Given the description of an element on the screen output the (x, y) to click on. 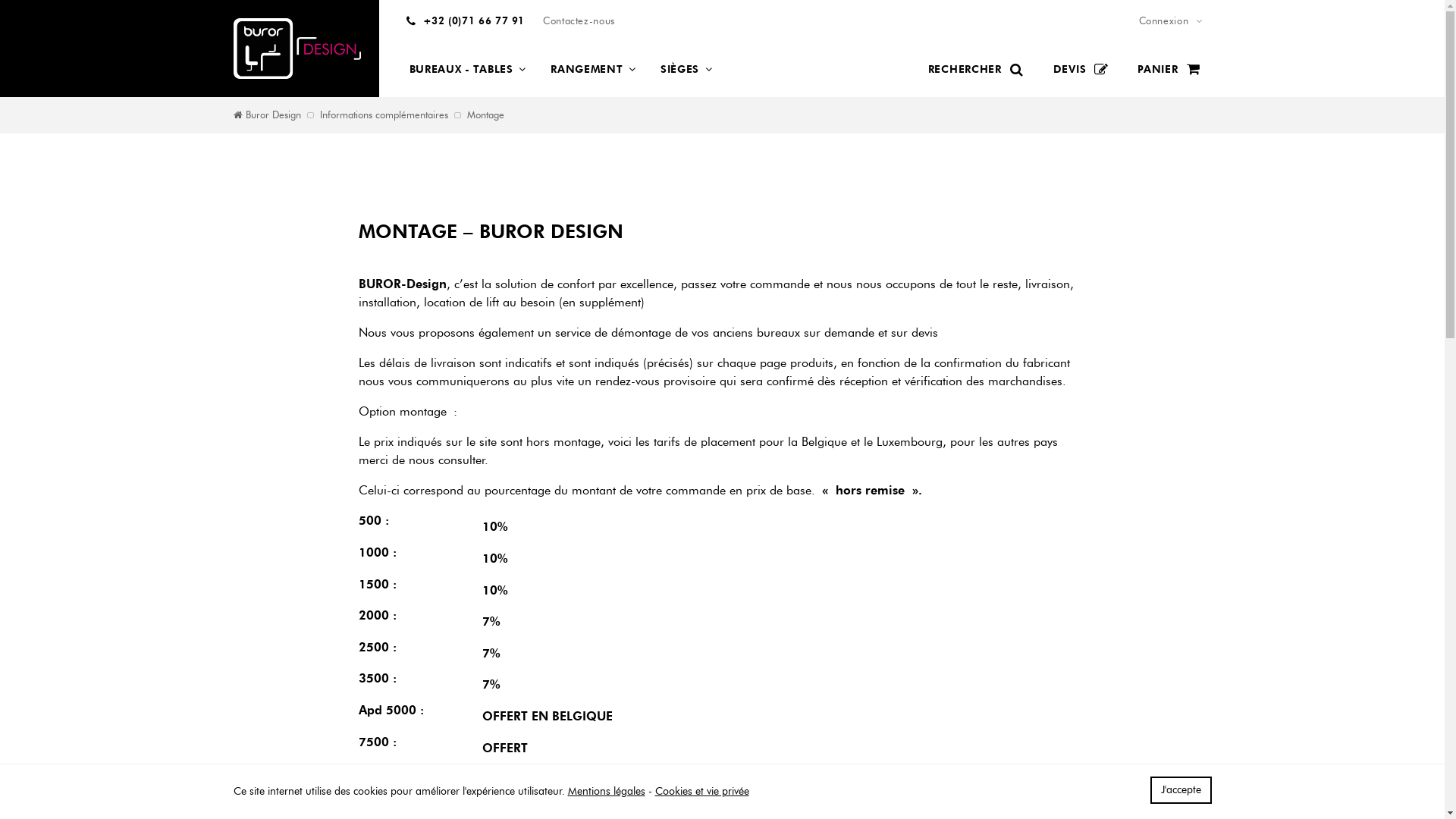
DEVIS Element type: text (1082, 69)
+32 (0)71 66 77 91 Element type: text (465, 21)
RECHERCHER Element type: text (977, 69)
RANGEMENT Element type: text (593, 69)
Buror Design Element type: hover (296, 48)
Buror Design Element type: text (267, 115)
PANIER Element type: text (1169, 69)
Contactez-nous Element type: text (578, 21)
J'accepte Element type: text (1180, 789)
BUREAUX - TABLES Element type: text (468, 69)
